Given the description of an element on the screen output the (x, y) to click on. 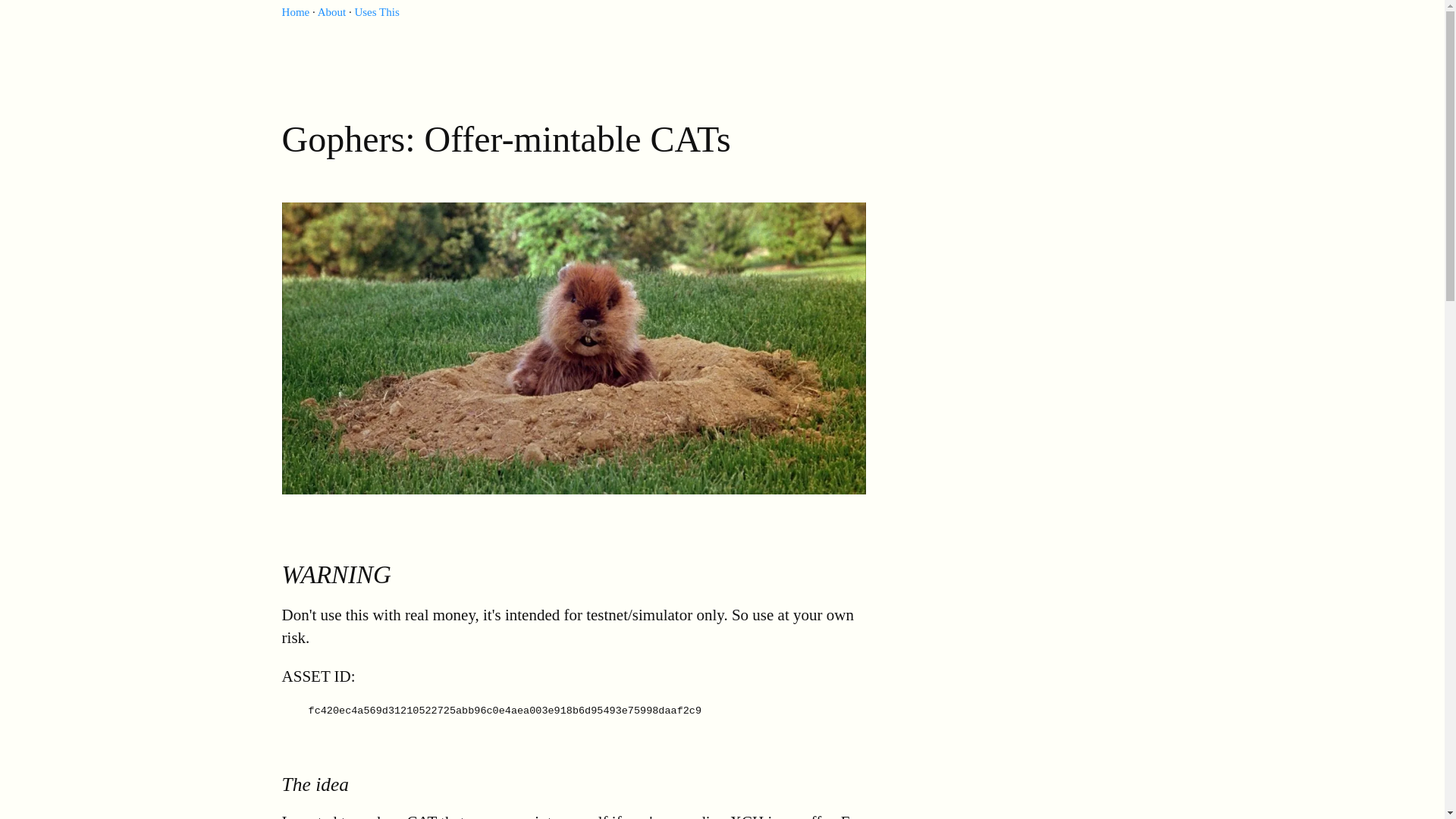
Uses This (375, 11)
Home (296, 11)
About (331, 11)
